Given the description of an element on the screen output the (x, y) to click on. 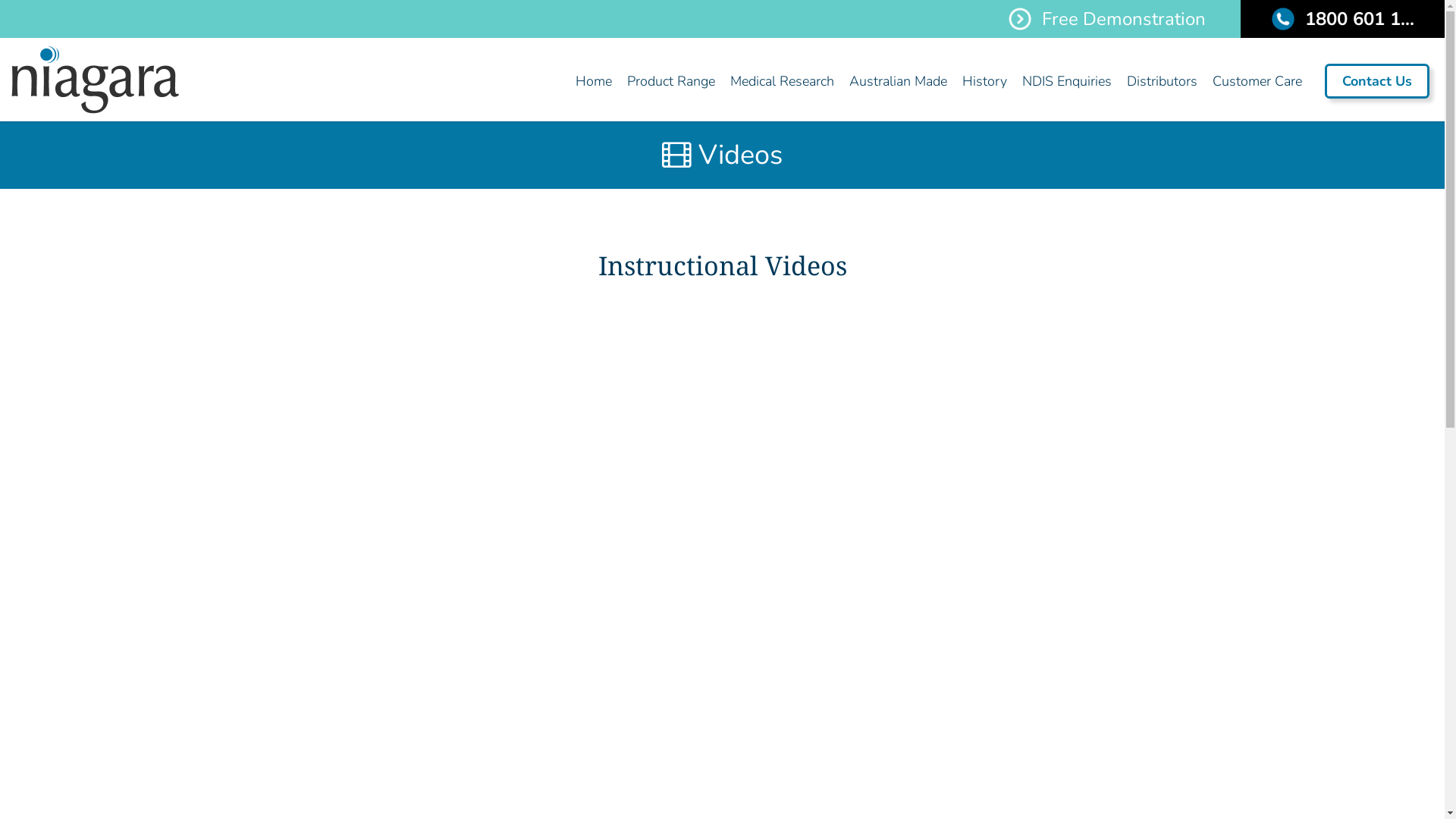
Medical Research Element type: text (781, 81)
Australian Made Element type: text (897, 81)
Free Demonstration Element type: text (1106, 18)
NDIS Enquiries Element type: text (1066, 81)
1800 601 1... Element type: text (1342, 18)
Product Range Element type: text (670, 81)
Contact Us Element type: text (1376, 80)
History Element type: text (984, 81)
Portable Instruction DVD QD 193 V3 Element type: hover (494, 669)
Apollo Recliner Systems Instruction Video V5 QD220 Element type: hover (494, 415)
P6 Bed Instruction DVD QD223 V3 Element type: hover (949, 415)
Customer Care Element type: text (1256, 81)
Home Element type: text (593, 81)
Distributors Element type: text (1161, 81)
